Given the description of an element on the screen output the (x, y) to click on. 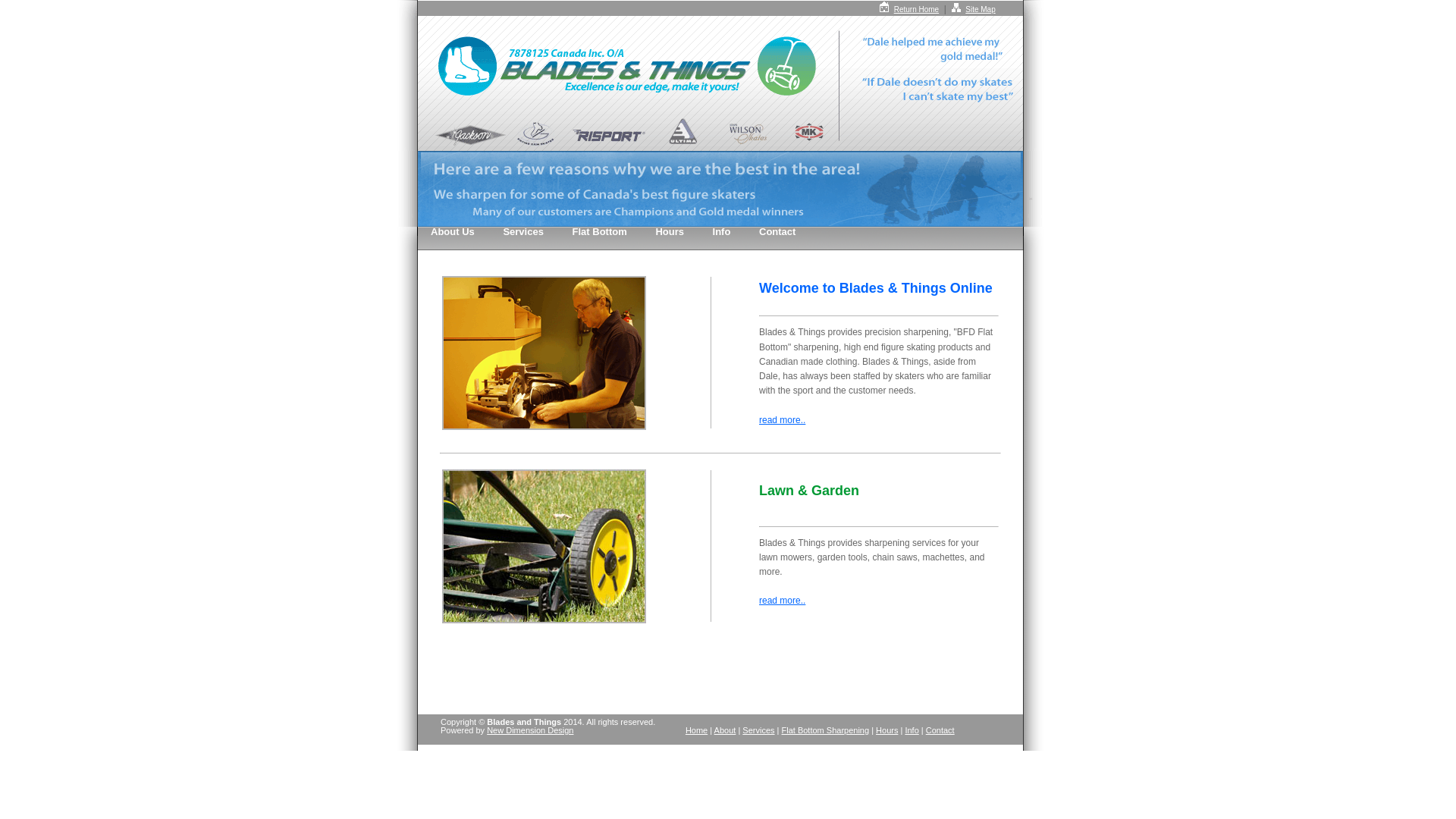
New Dimension Design Element type: text (529, 729)
Services Element type: text (522, 231)
read more.. Element type: text (782, 419)
Flat Bottom Sharpening Element type: text (825, 729)
Hours Element type: text (886, 729)
Info Element type: text (911, 729)
Flat Bottom Element type: text (599, 231)
read more.. Element type: text (782, 600)
About Us Element type: text (452, 231)
Contact Element type: text (939, 729)
Site Map Element type: text (979, 9)
Return Home Element type: text (916, 9)
Info Element type: text (721, 231)
Hours Element type: text (669, 231)
About Element type: text (725, 729)
Services Element type: text (758, 729)
Home Element type: text (696, 729)
Contact Element type: text (777, 231)
